Given the description of an element on the screen output the (x, y) to click on. 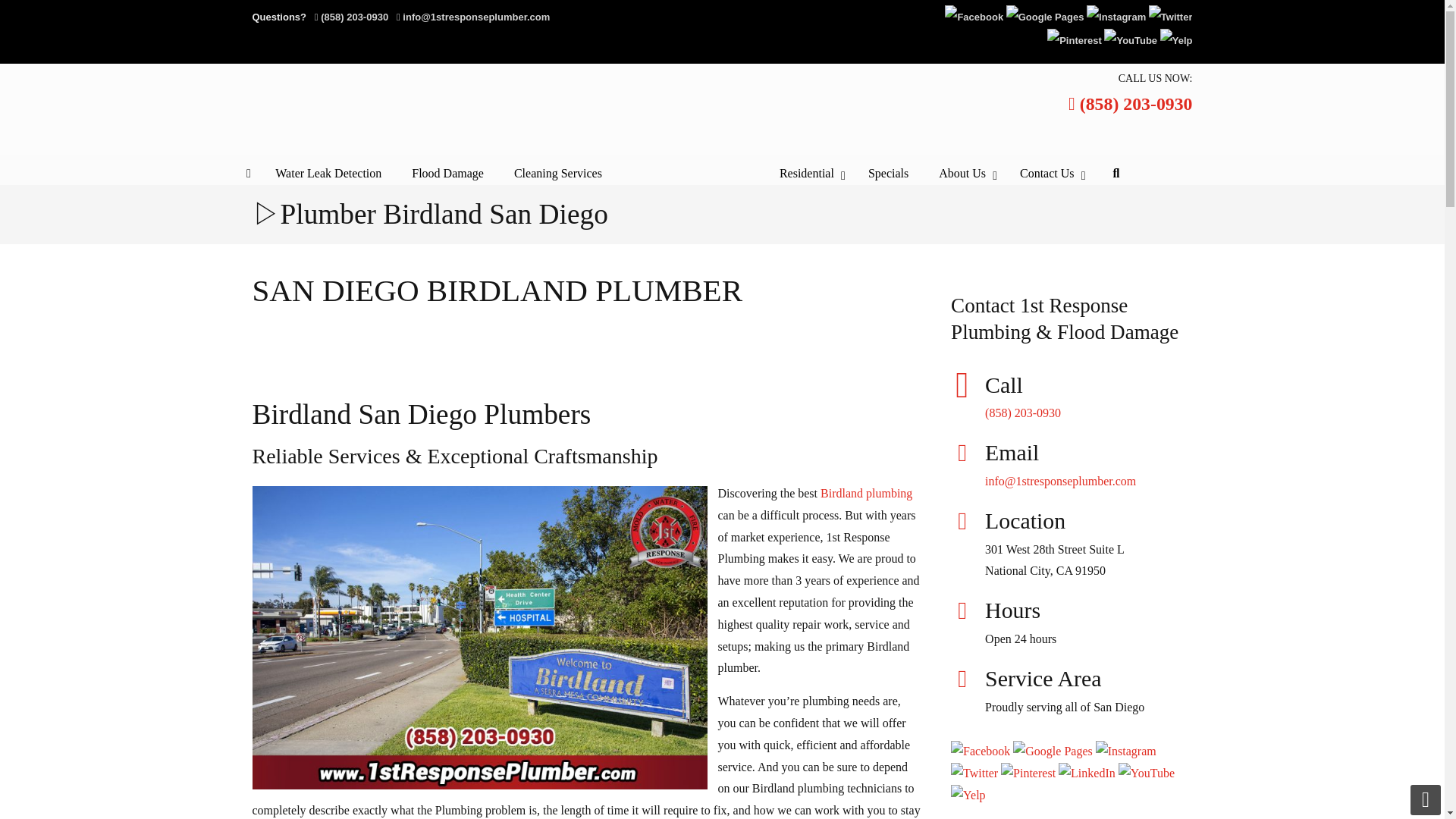
YouTube (1130, 40)
Residential (808, 173)
Google Pages (1045, 16)
Facebook (973, 16)
Flood Damage (447, 173)
Specials (888, 173)
Pinterest (1074, 40)
Twitter (1170, 16)
Twitter (1170, 16)
Facebook (973, 16)
Cleaning Services (558, 173)
Yelp (1176, 40)
Instagram (1115, 16)
YouTube (1130, 40)
